Given the description of an element on the screen output the (x, y) to click on. 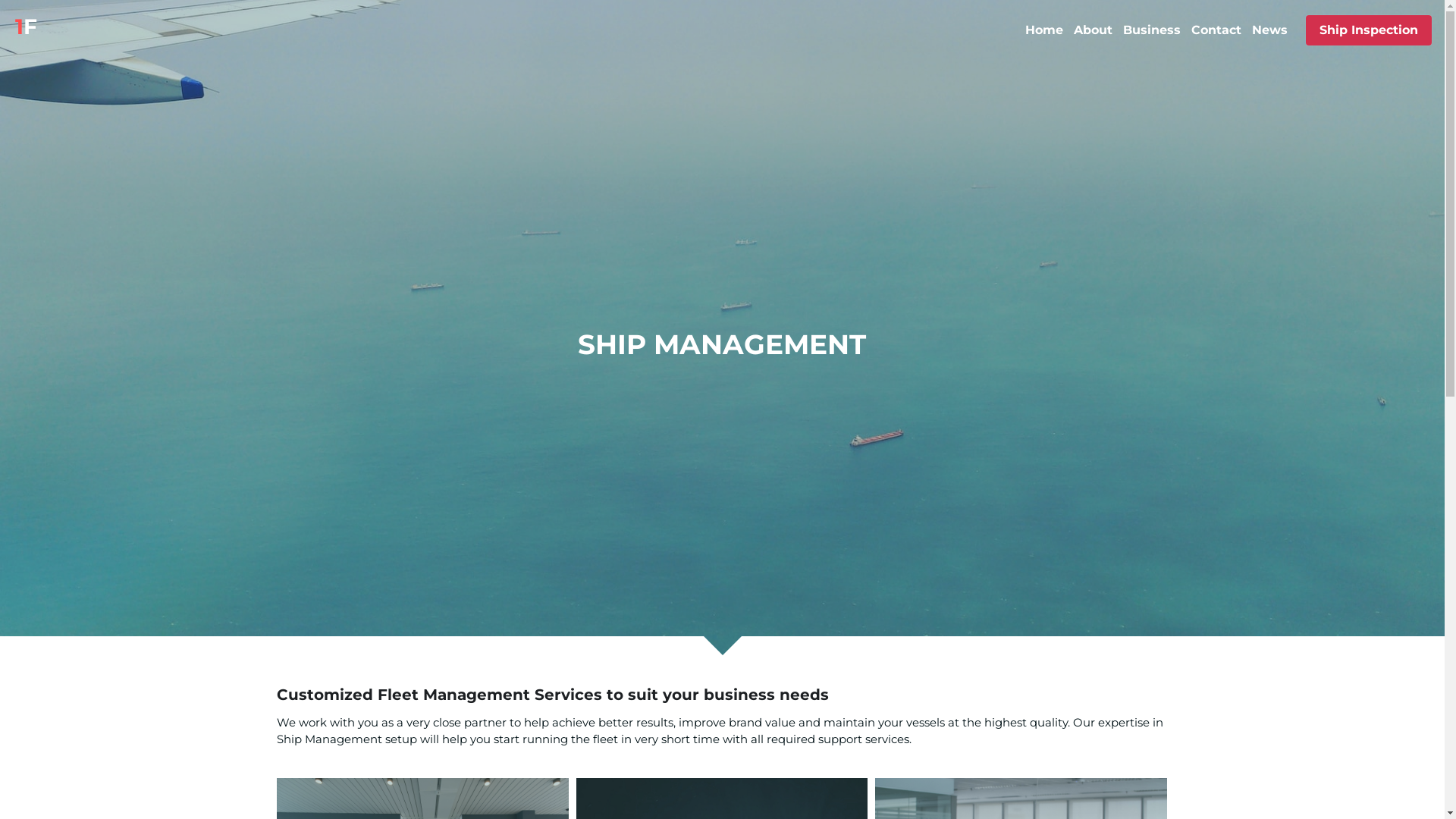
Business Element type: text (1151, 29)
News Element type: text (1269, 29)
Home Element type: text (1044, 29)
Ship Inspection Element type: text (1368, 30)
About Element type: text (1092, 29)
Contact Element type: text (1216, 29)
